Given the description of an element on the screen output the (x, y) to click on. 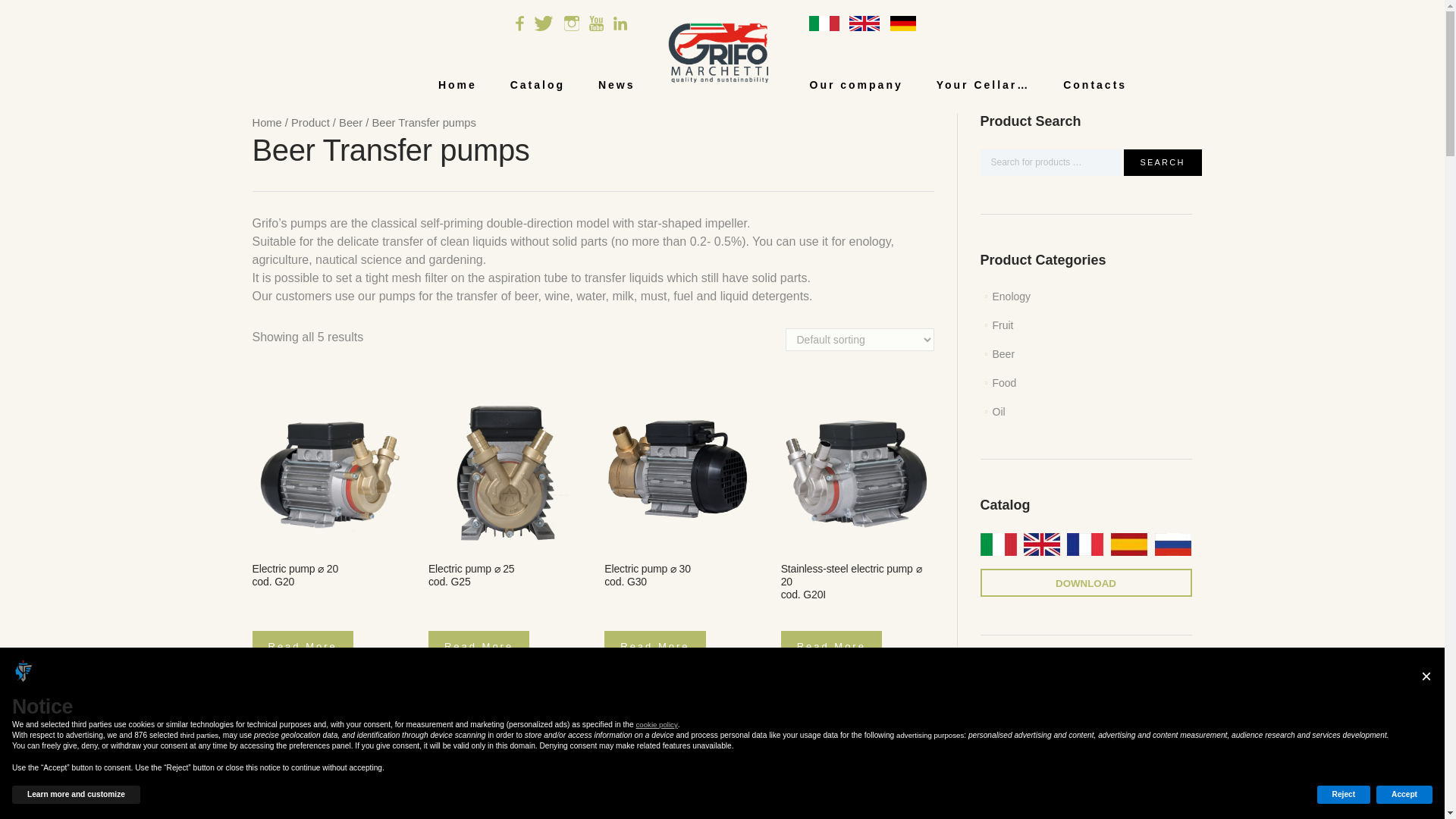
Catalog (537, 84)
Read More (478, 645)
Read More (654, 645)
Search (1163, 162)
Product (310, 122)
Contacts (1094, 84)
Search for products: (1050, 162)
Add To Quote (672, 691)
Home (457, 84)
Beer (350, 122)
Add To Quote (496, 691)
News (616, 84)
Add To Quote (319, 691)
Read More (301, 645)
Our company (856, 84)
